Given the description of an element on the screen output the (x, y) to click on. 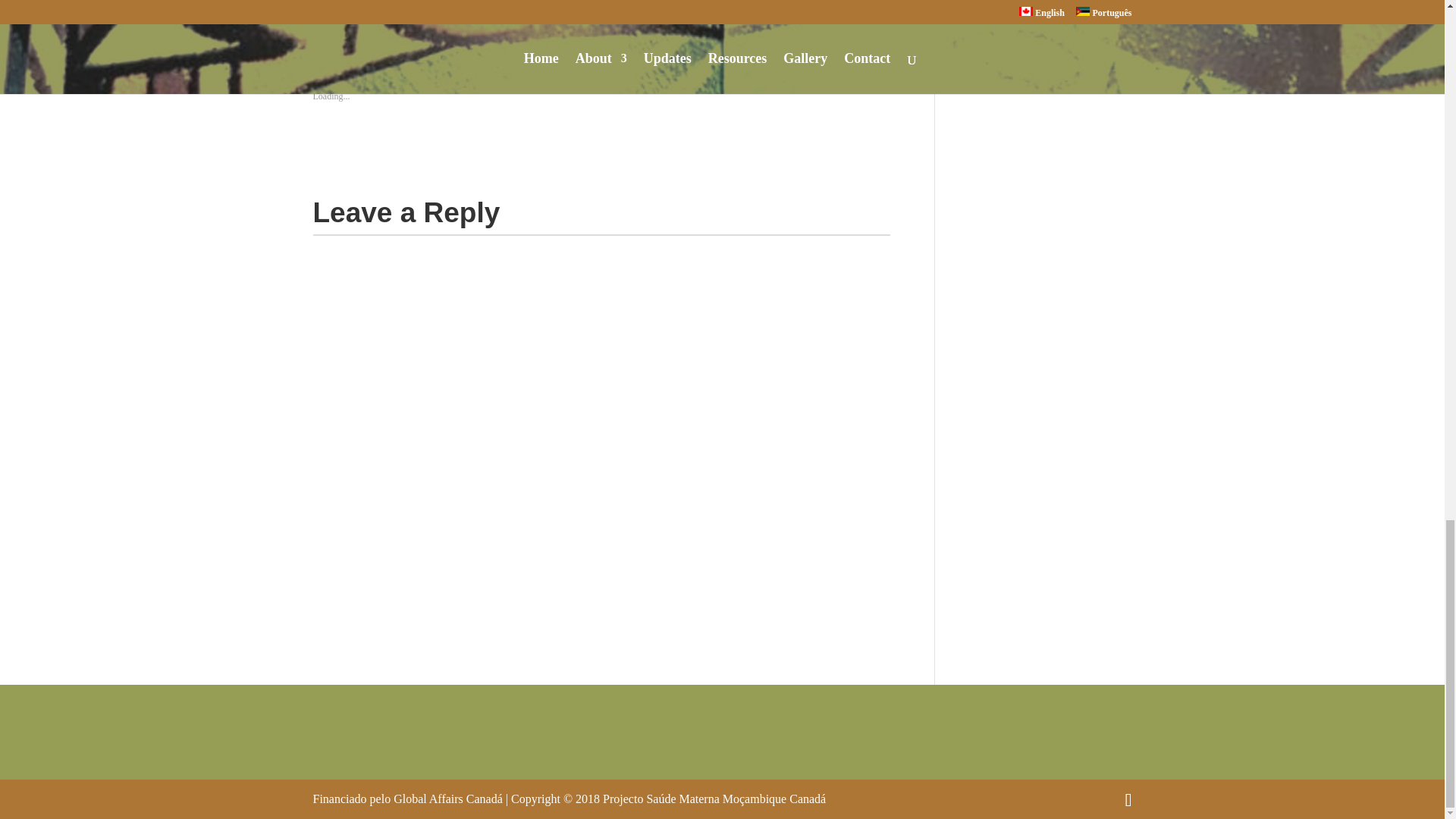
Click to share on Twitter (324, 15)
Click to share on Facebook (354, 15)
